Given the description of an element on the screen output the (x, y) to click on. 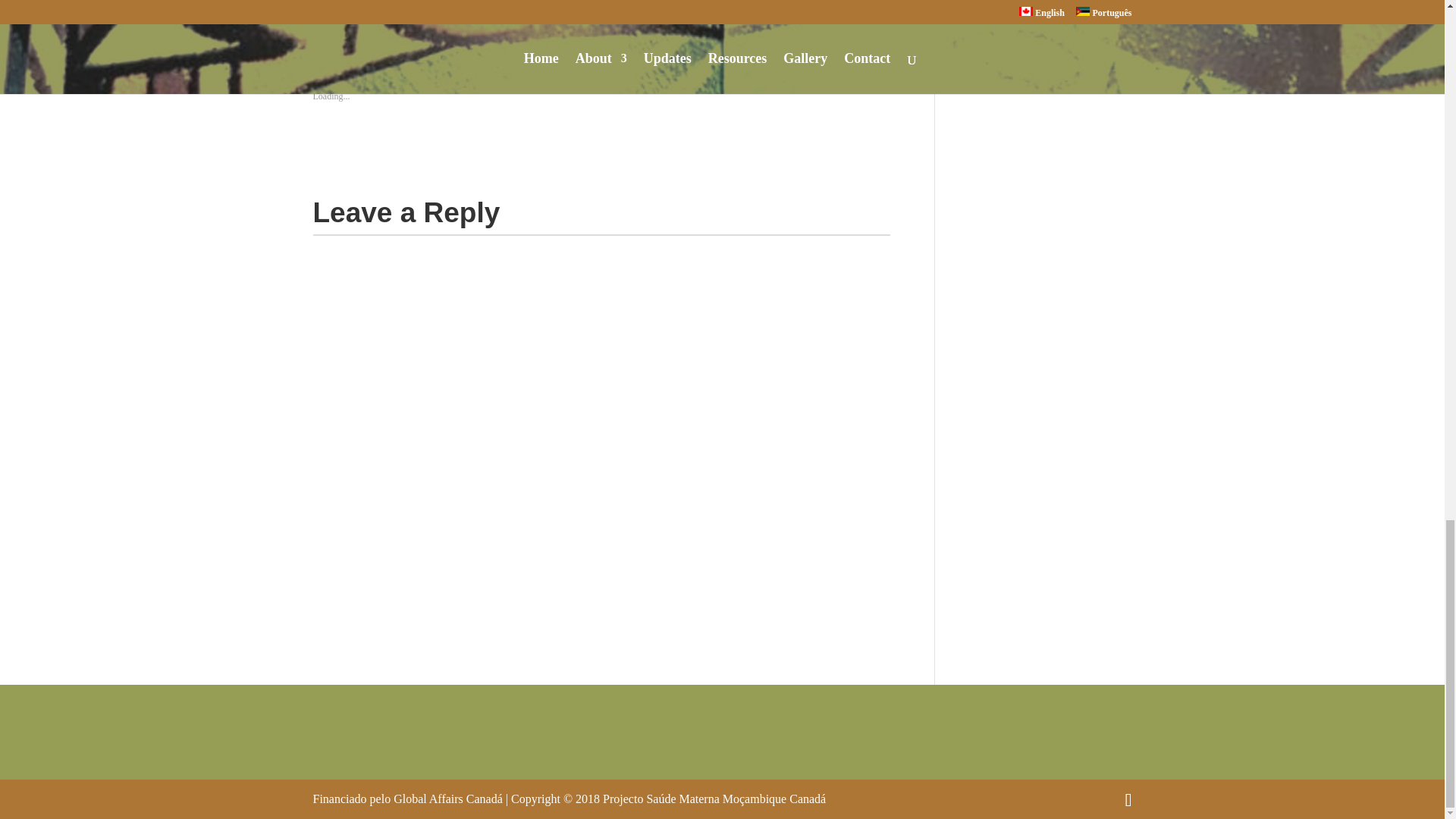
Click to share on Twitter (324, 15)
Click to share on Facebook (354, 15)
